Given the description of an element on the screen output the (x, y) to click on. 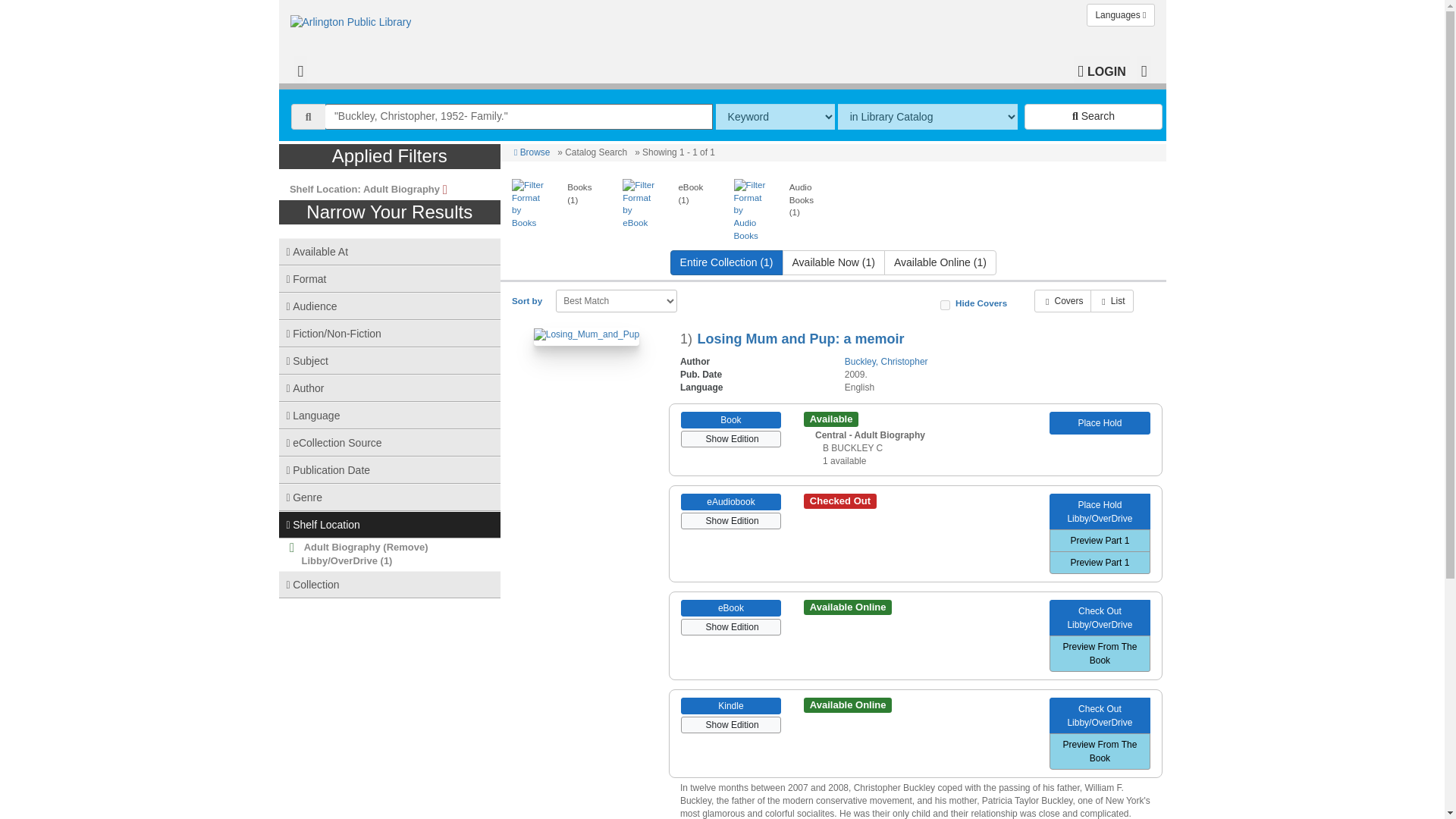
"Buckley, Christopher, 1952- Family." (518, 116)
LOGIN (1101, 69)
Login (1101, 69)
 Search (1093, 116)
Browse (531, 152)
Library Home Page (354, 18)
Languages  (1120, 15)
on (945, 305)
The method of searching. (775, 116)
